Given the description of an element on the screen output the (x, y) to click on. 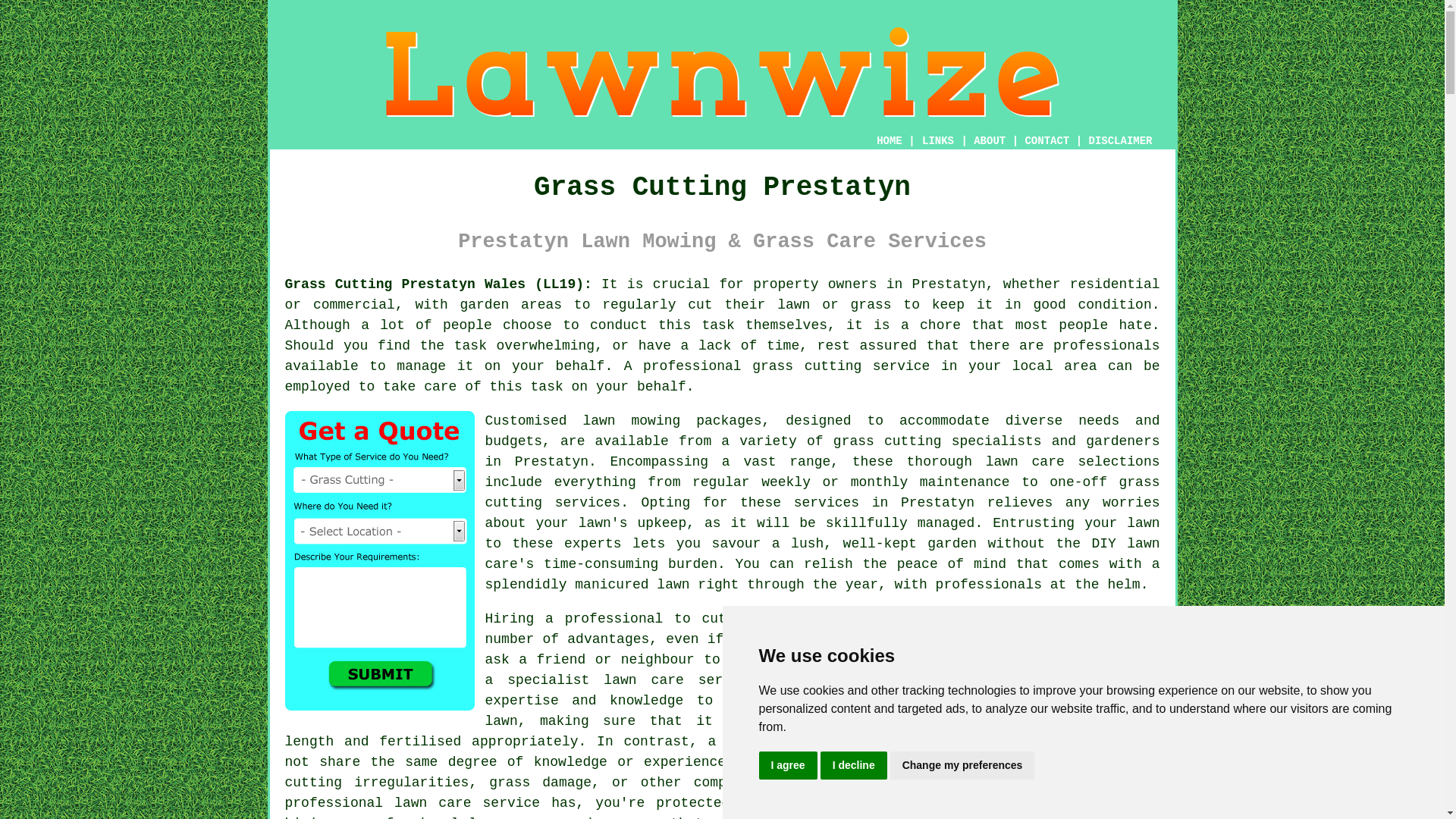
grass cutting services (822, 492)
Change my preferences (962, 765)
I agree (787, 765)
HOME (889, 141)
grass cutting (806, 365)
LINKS (938, 141)
lawn mowing packages (671, 420)
Grass Cutting Prestatyn (722, 71)
I decline (853, 765)
